Given the description of an element on the screen output the (x, y) to click on. 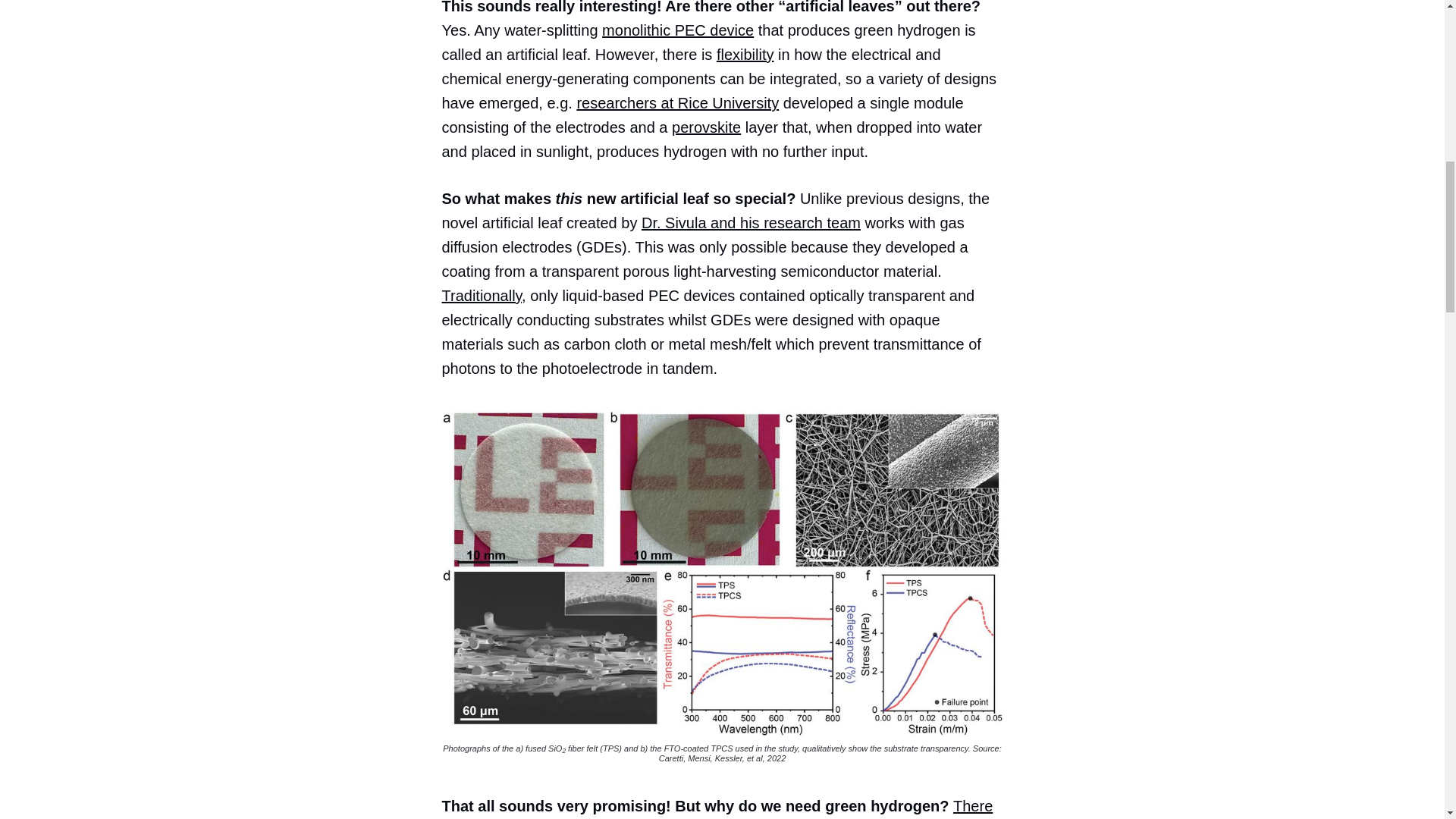
monolithic PEC device (678, 30)
flexibility (745, 54)
Dr. Sivula and his research team (751, 222)
Traditionally (481, 295)
There are various ways (716, 808)
researchers at Rice University (677, 103)
perovskite (706, 126)
